Given the description of an element on the screen output the (x, y) to click on. 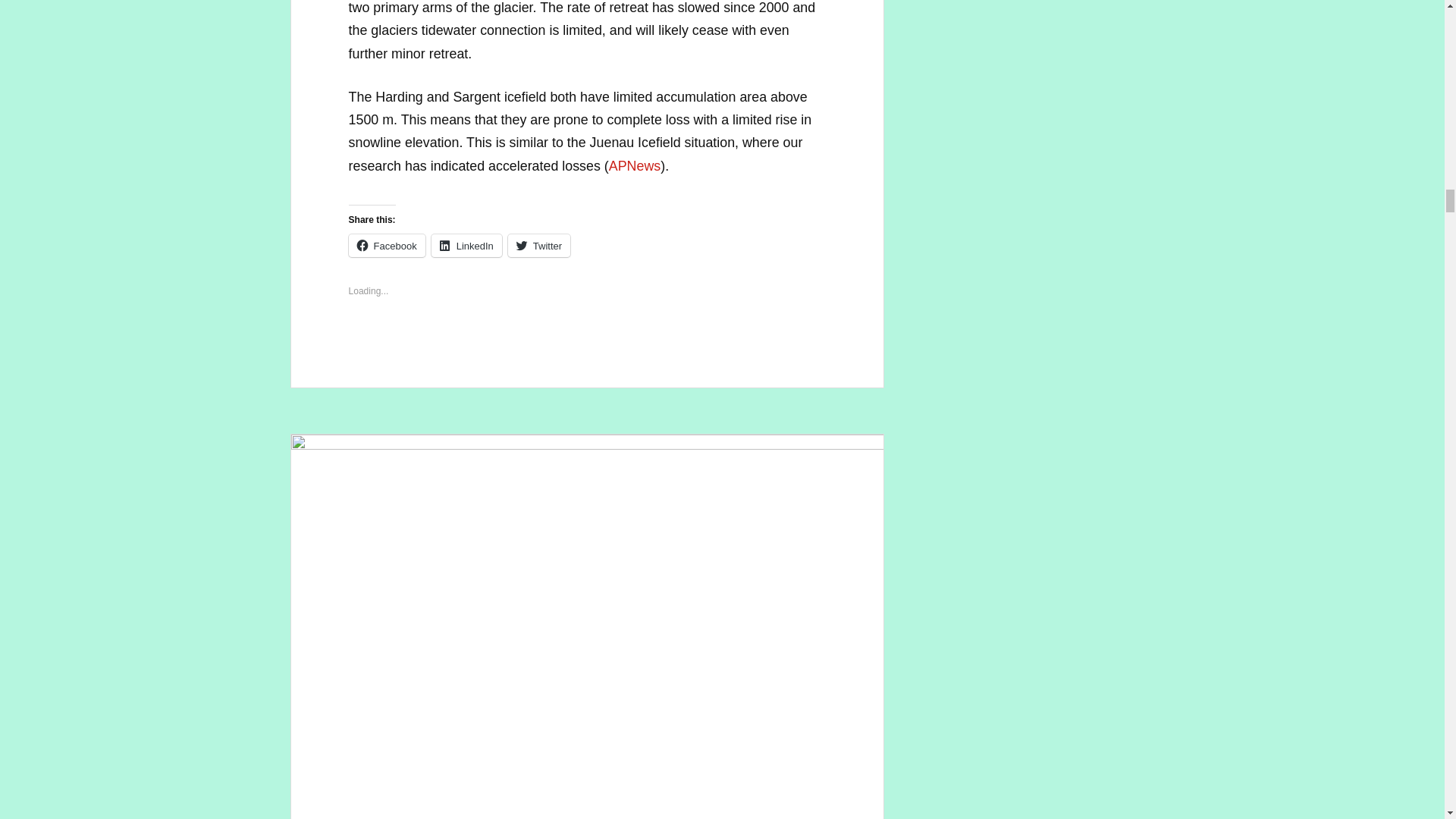
Click to share on LinkedIn (466, 245)
Click to share on Facebook (387, 245)
Click to share on Twitter (539, 245)
